Given the description of an element on the screen output the (x, y) to click on. 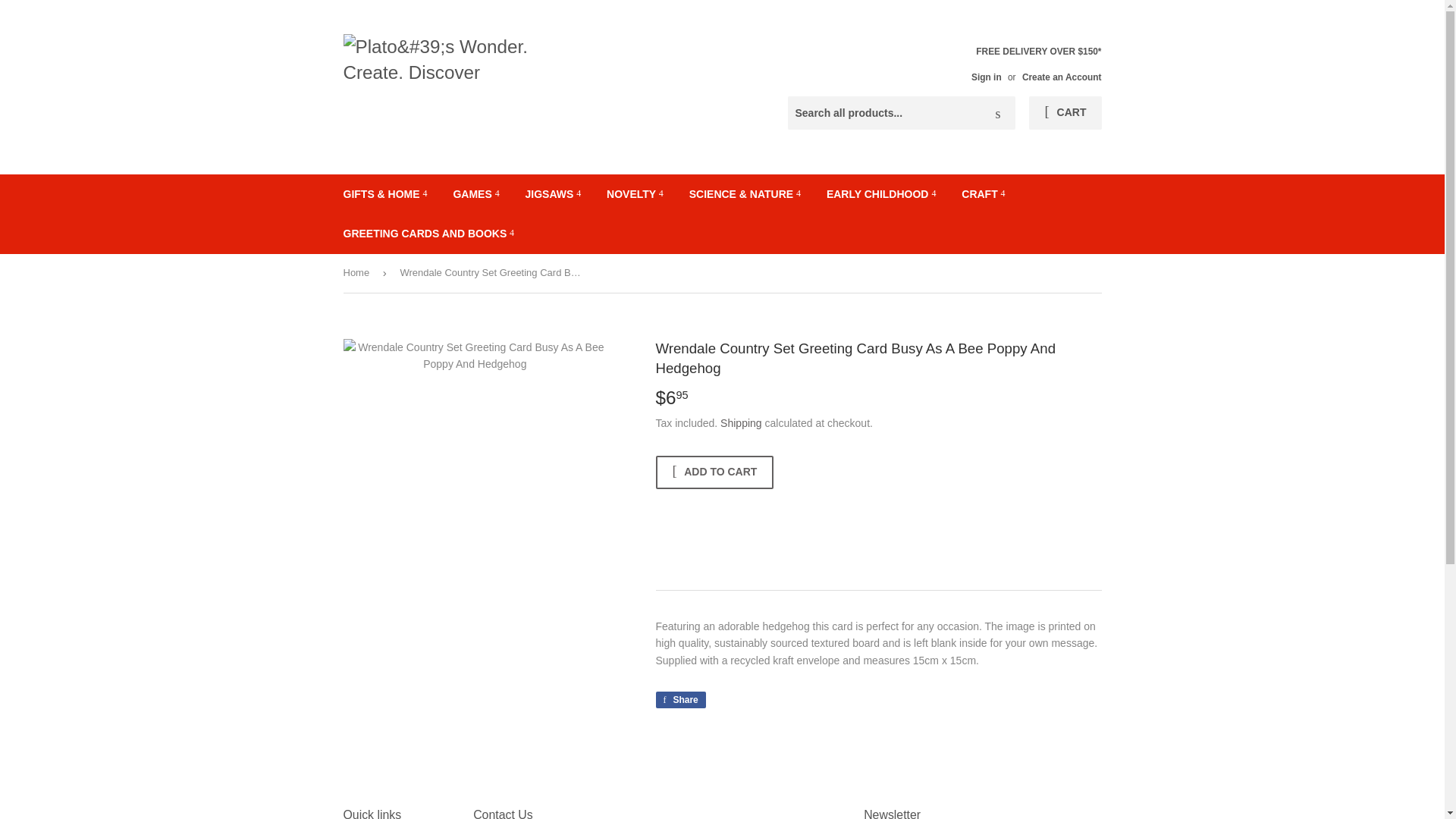
Search (997, 113)
CART (1064, 112)
Sign in (986, 77)
Create an Account (1062, 77)
Share on Facebook (679, 699)
